Given the description of an element on the screen output the (x, y) to click on. 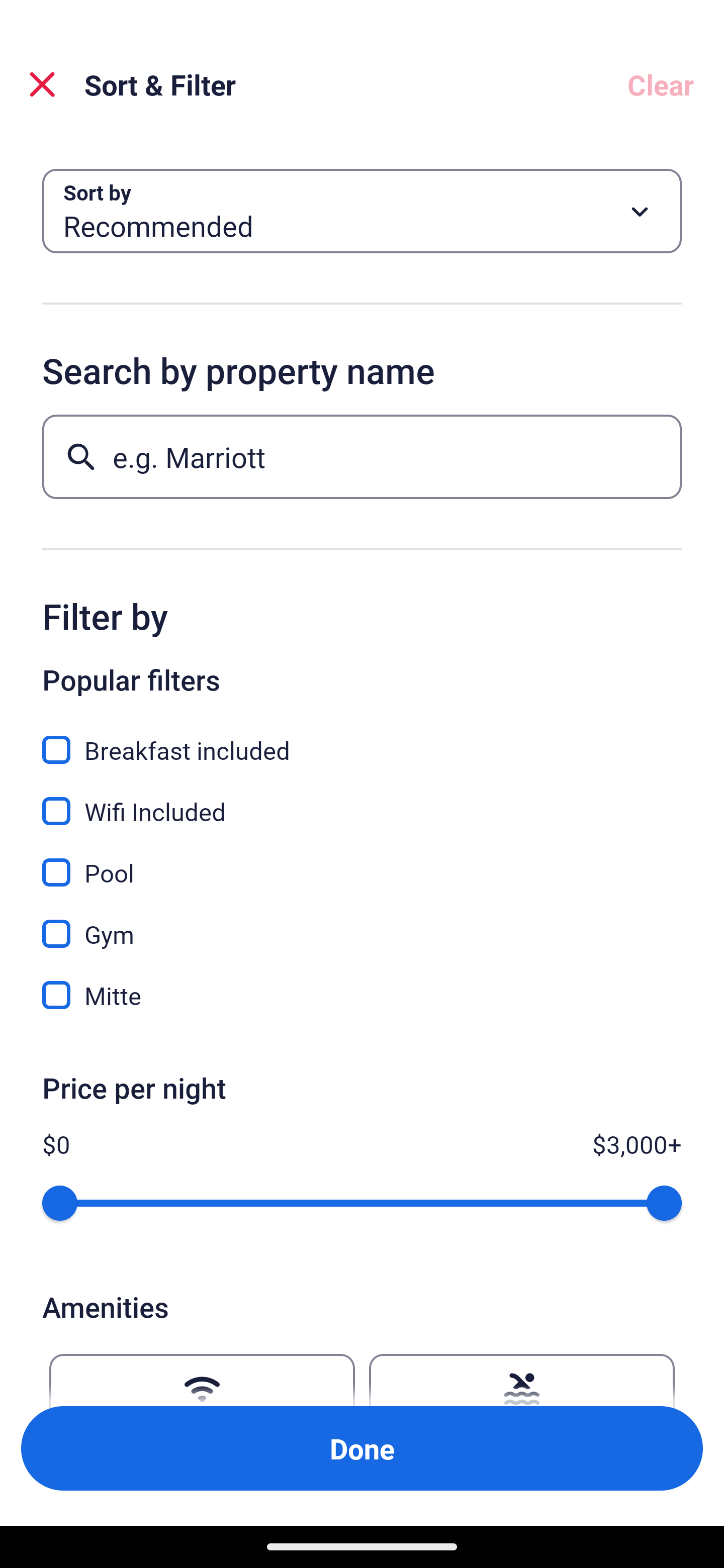
Close Sort and Filter (42, 84)
Clear (660, 84)
Sort by Button Recommended (361, 211)
e.g. Marriott Button (361, 455)
Breakfast included, Breakfast included (361, 738)
Wifi Included, Wifi Included (361, 800)
Pool, Pool (361, 861)
Gym, Gym (361, 922)
Mitte, Mitte (361, 995)
Apply and close Sort and Filter Done (361, 1448)
